Given the description of an element on the screen output the (x, y) to click on. 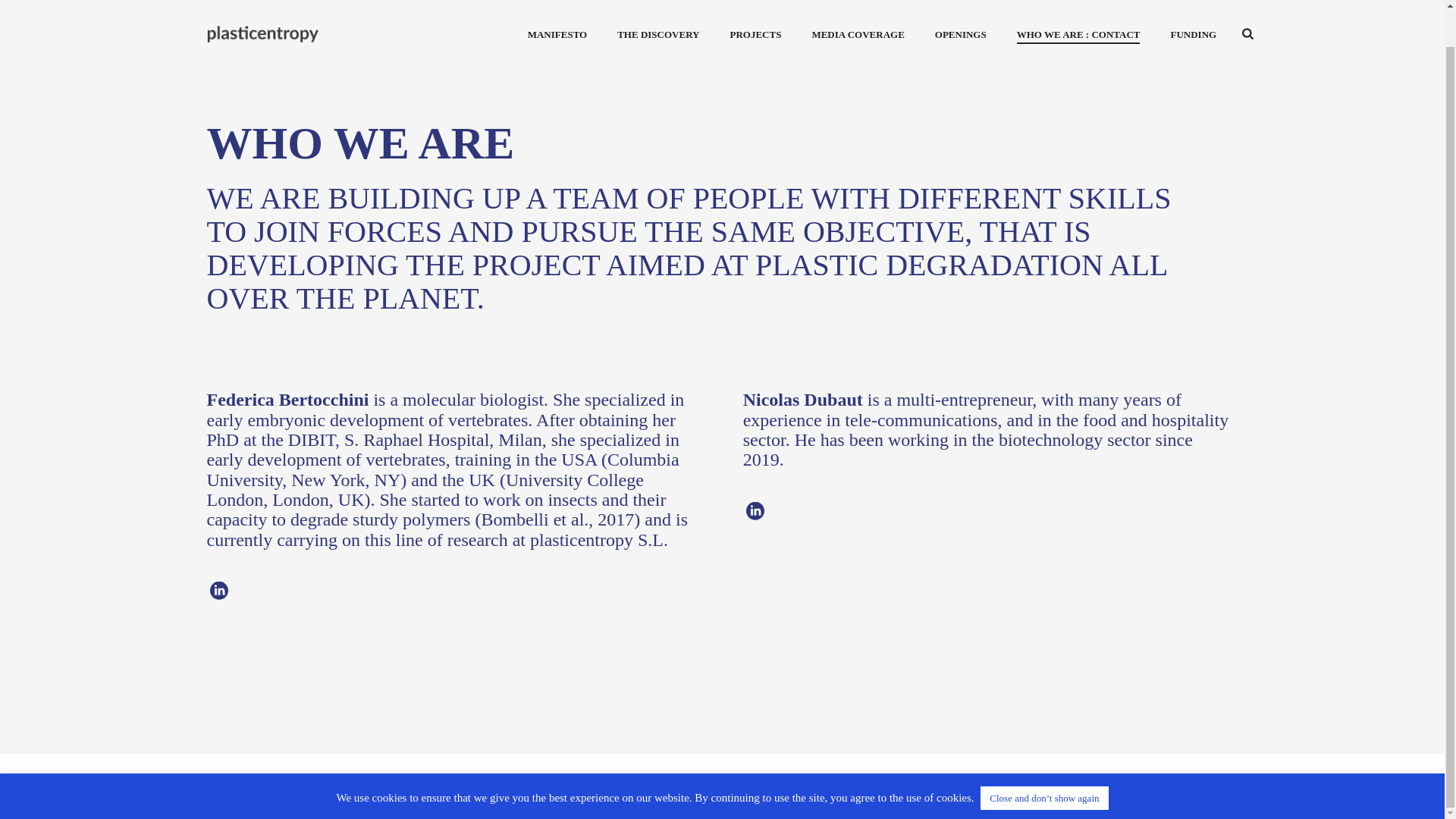
OPENINGS (960, 2)
FUNDING (1192, 2)
MEDIA COVERAGE (857, 2)
THE DISCOVERY (658, 2)
MEDIA COVERAGE (857, 2)
PROJECTS (755, 2)
MANIFESTO (557, 2)
Plastic Entropy (281, 14)
WHO WE ARE : CONTACT (1078, 2)
MANIFESTO (557, 2)
